Given the description of an element on the screen output the (x, y) to click on. 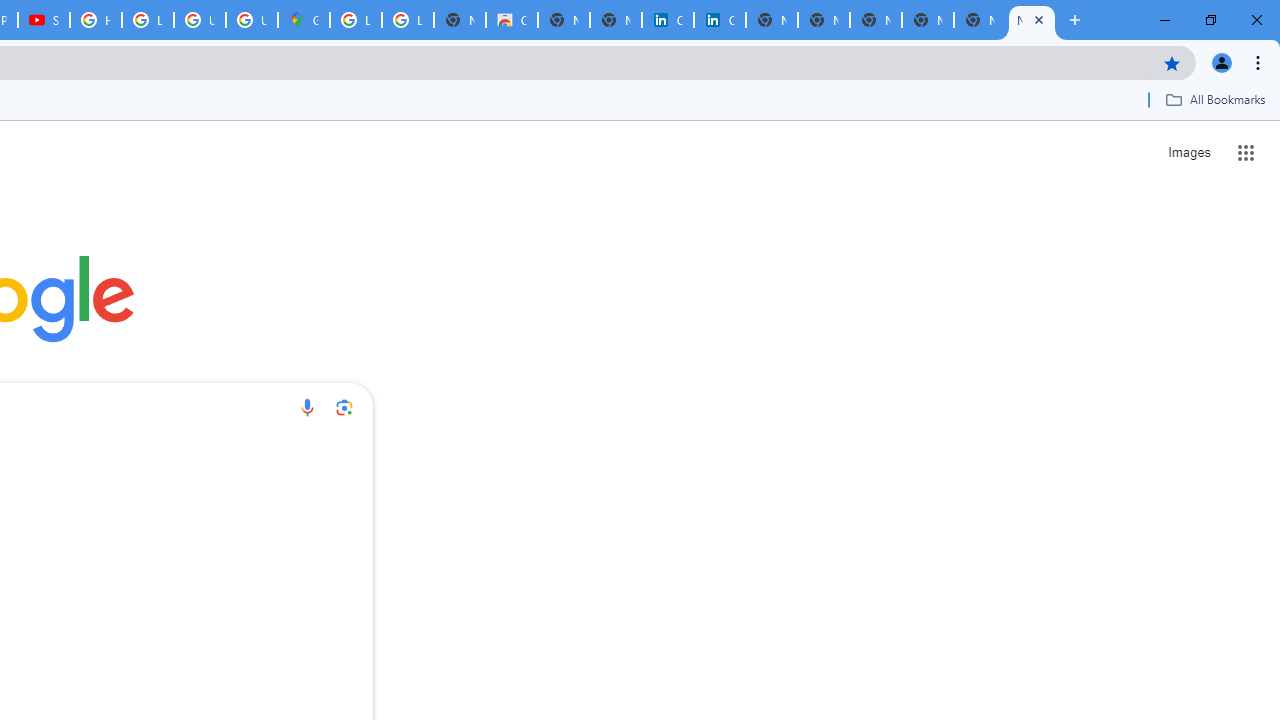
Chrome Web Store (511, 20)
New Tab (1032, 20)
Subscriptions - YouTube (43, 20)
Cookie Policy | LinkedIn (667, 20)
Search for Images  (1188, 152)
